Given the description of an element on the screen output the (x, y) to click on. 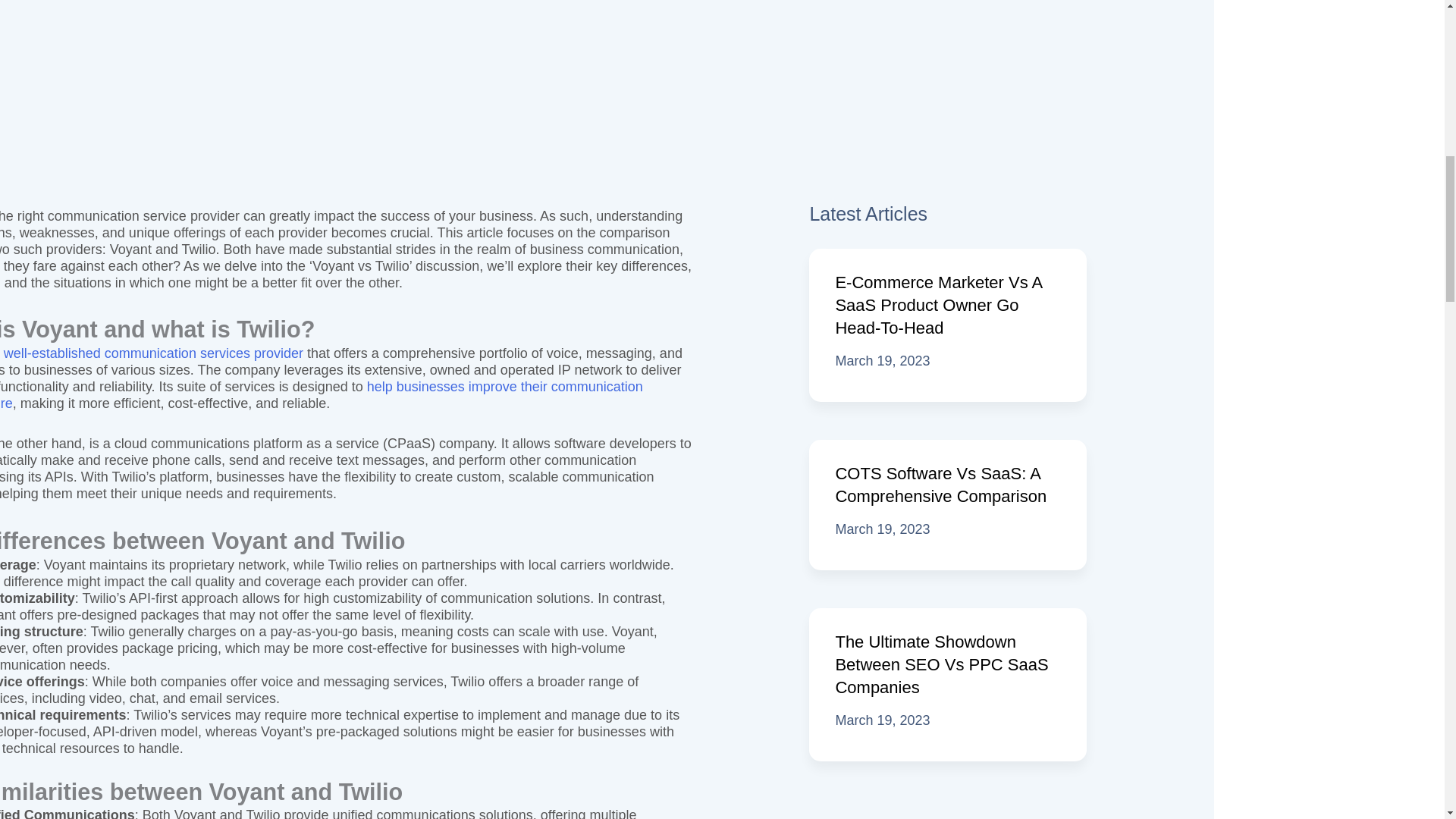
help businesses improve their communication infrastructure (321, 395)
COTS Software Vs SaaS: A Comprehensive Comparison (940, 485)
Voyant is a well-established communication services provider (151, 353)
The Ultimate Showdown Between SEO Vs PPC SaaS Companies (941, 664)
E-Commerce Marketer Vs A SaaS Product Owner Go Head-To-Head (938, 304)
